Given the description of an element on the screen output the (x, y) to click on. 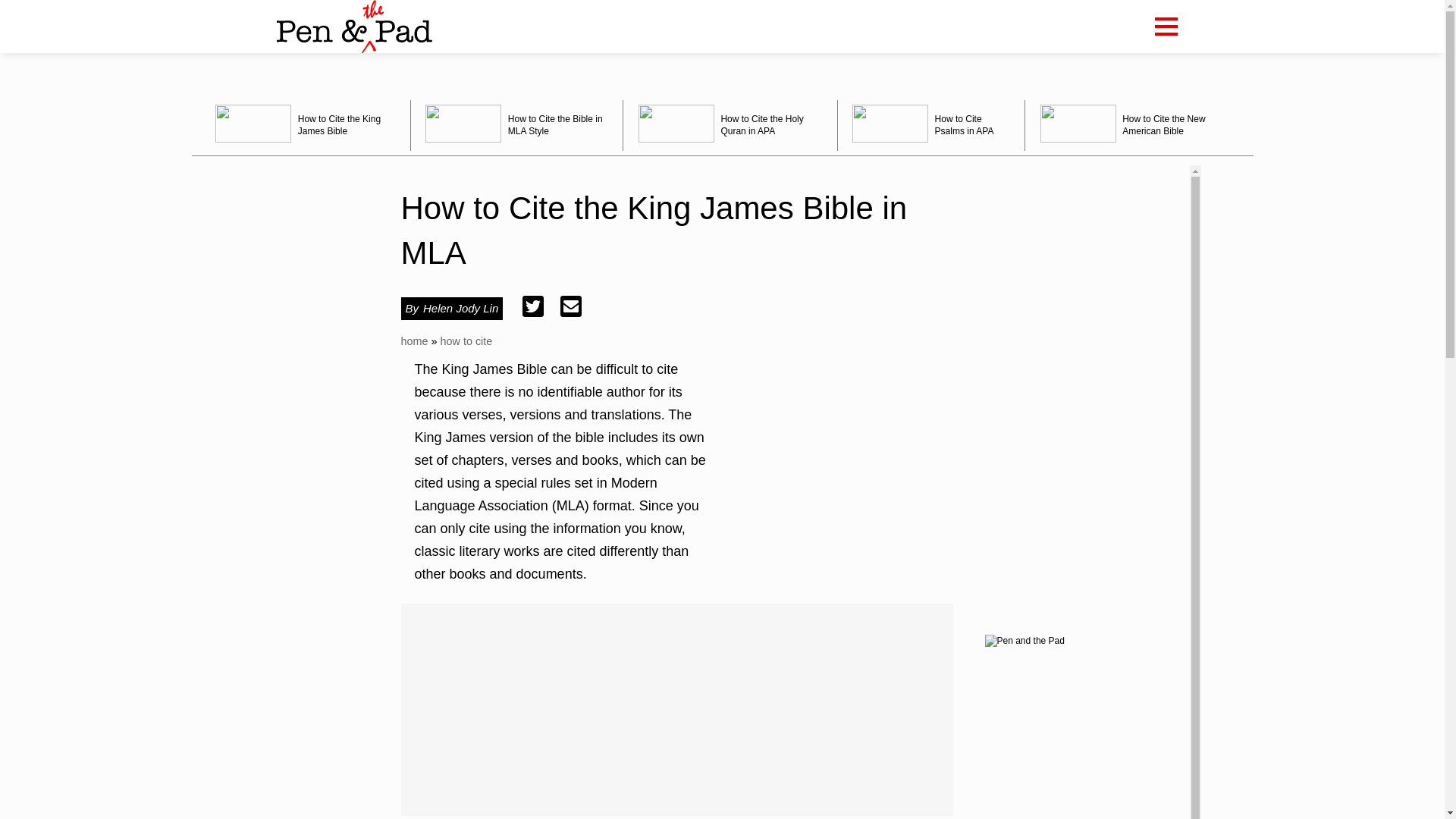
How to Cite the King James Bible (305, 124)
How to Cite Psalms in APA (931, 124)
home (414, 340)
how to cite (465, 340)
How to Cite the Bible in MLA Style (517, 124)
How to Cite the Holy Quran in APA (730, 124)
